Given the description of an element on the screen output the (x, y) to click on. 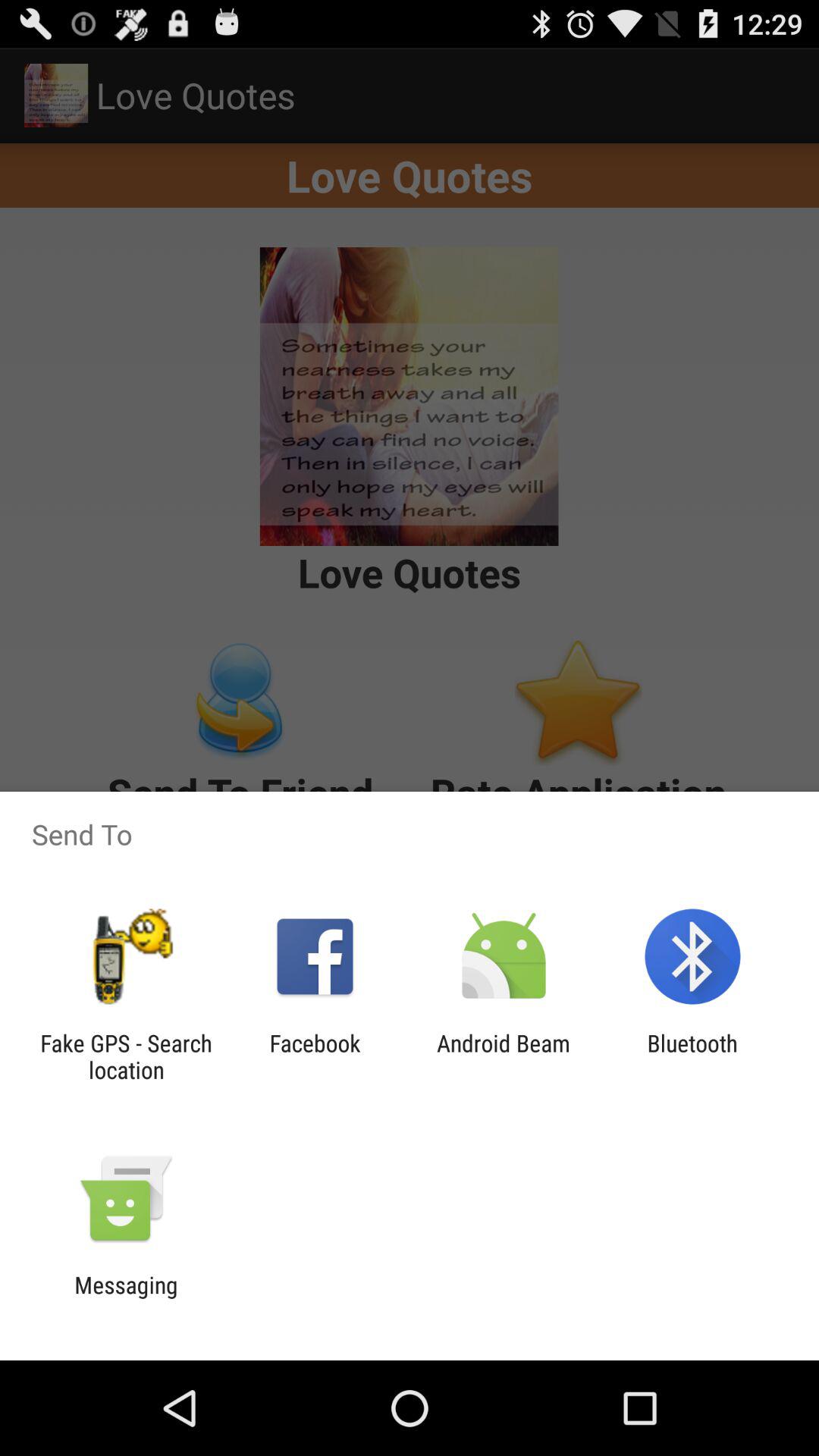
tap the item next to facebook (125, 1056)
